Given the description of an element on the screen output the (x, y) to click on. 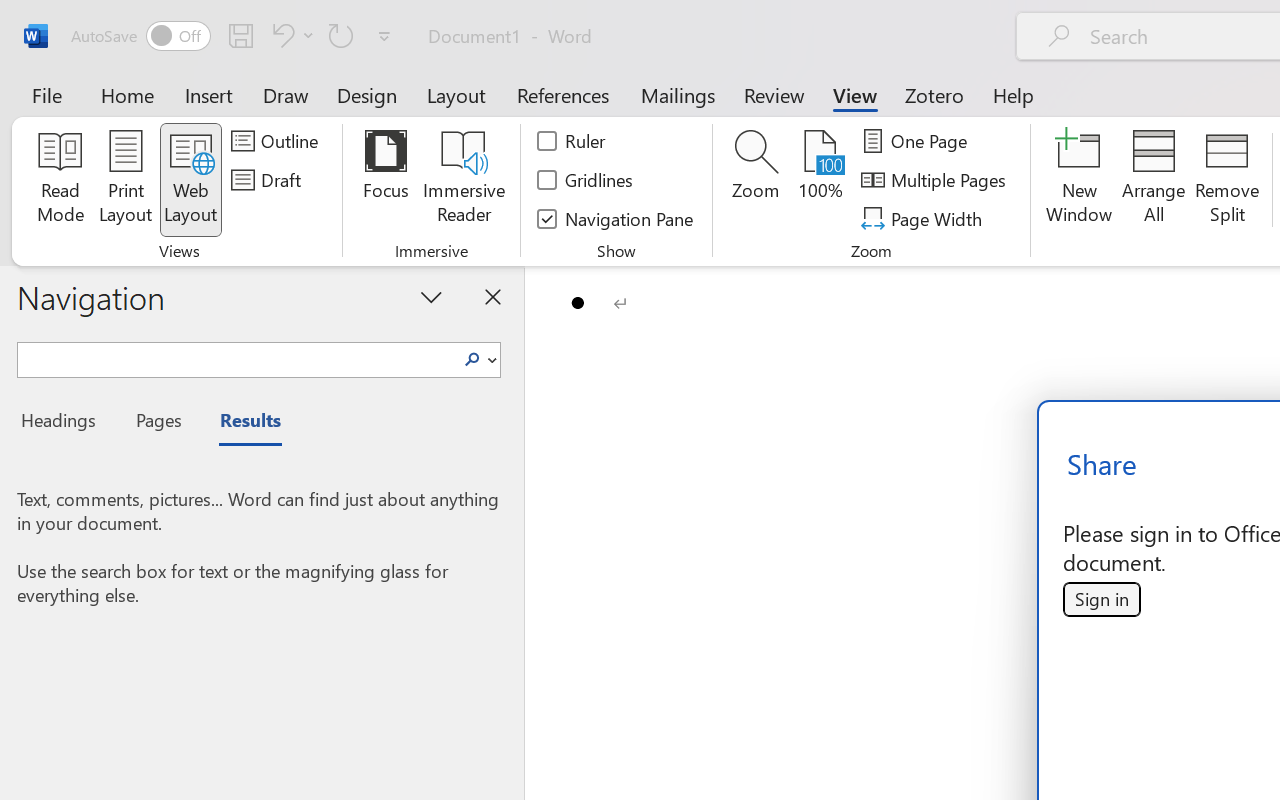
One Page (917, 141)
100% (820, 179)
Outline (278, 141)
Focus (385, 179)
Can't Repeat (341, 35)
